Given the description of an element on the screen output the (x, y) to click on. 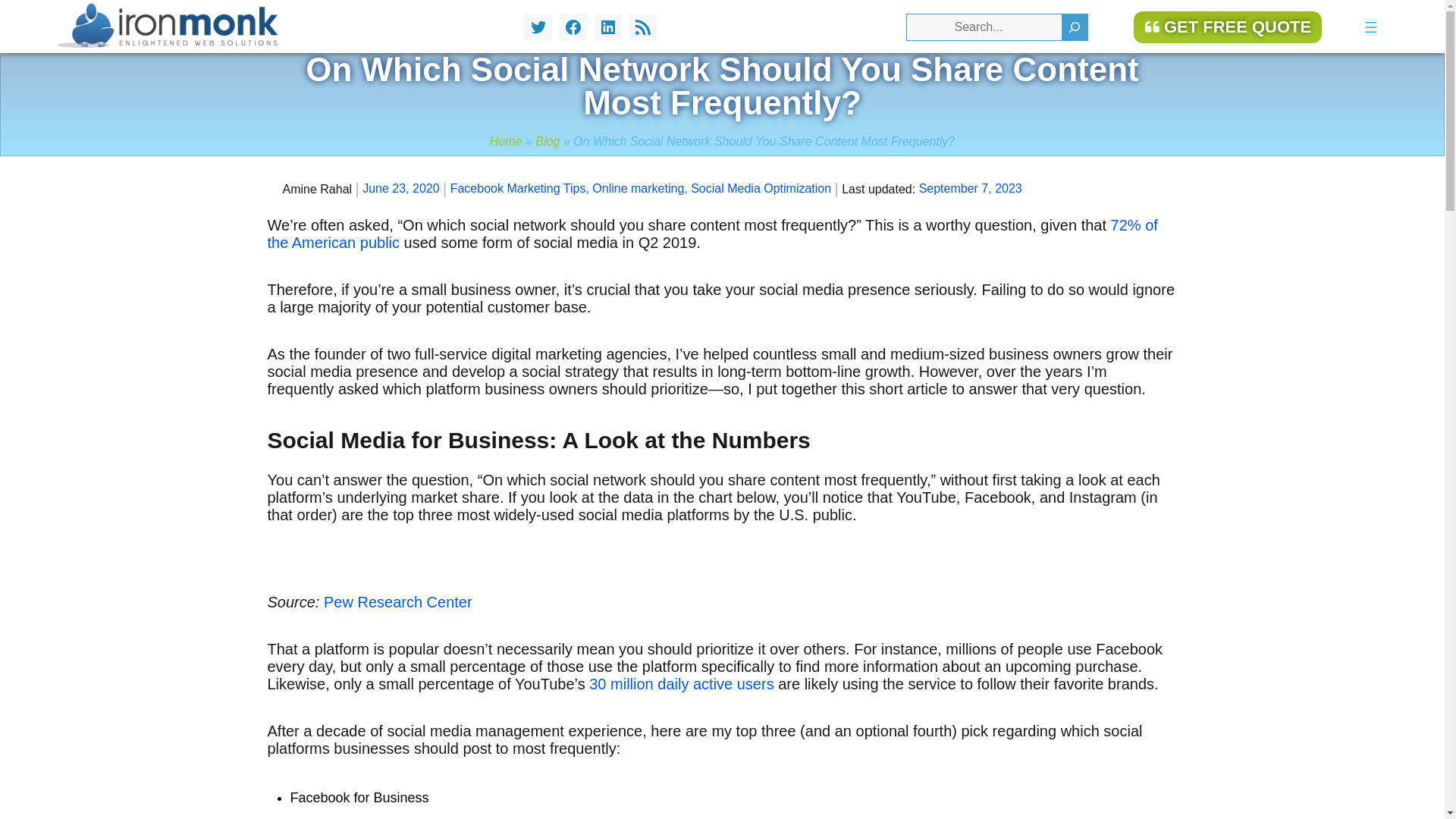
RSS Feed (642, 26)
LinkedIn (607, 26)
Facebook (572, 26)
GET FREE QUOTE (1228, 26)
Twitter (537, 26)
Home (505, 141)
Blog (547, 141)
